Given the description of an element on the screen output the (x, y) to click on. 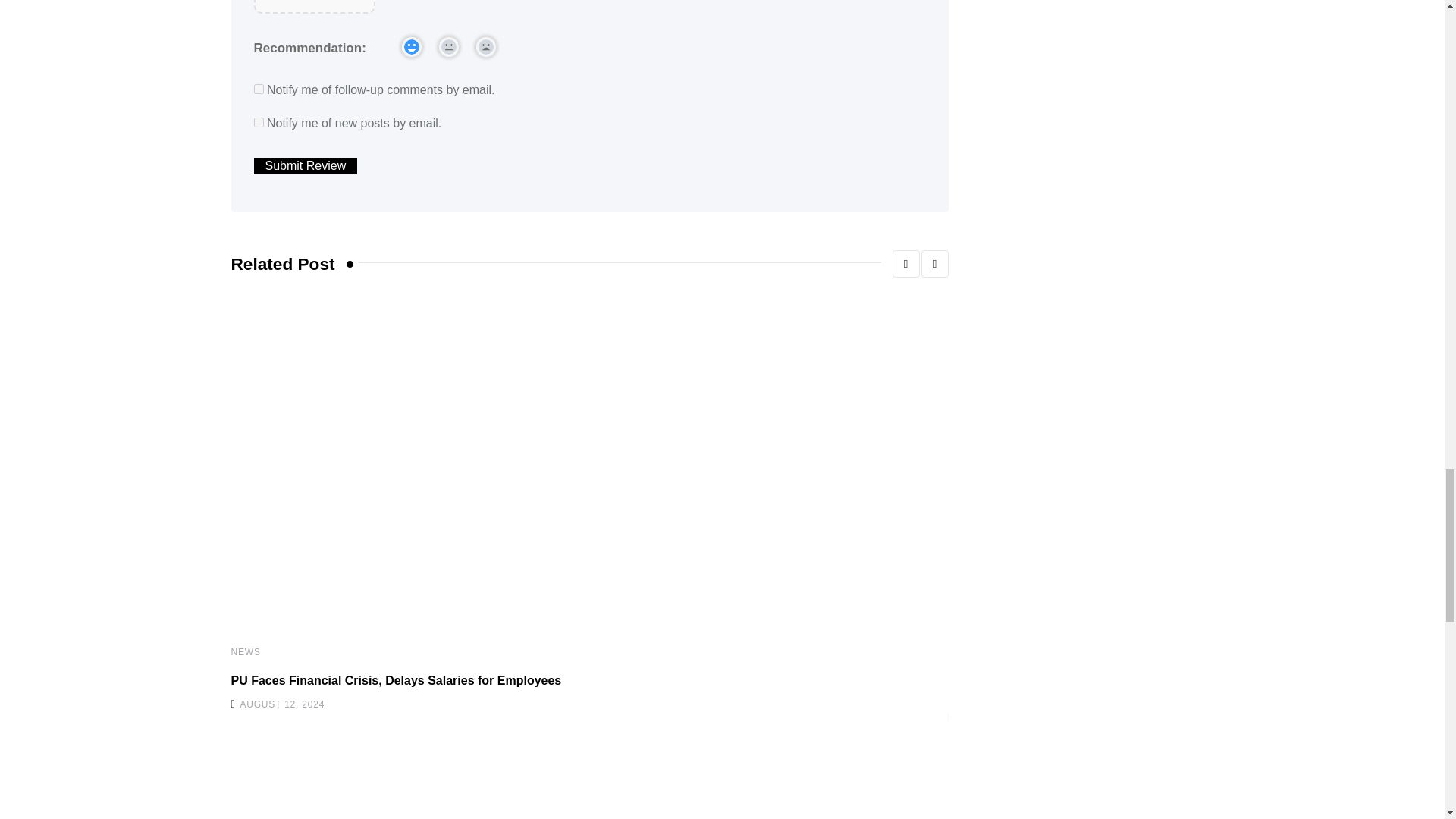
Submit Review (304, 166)
subscribe (258, 89)
PU Faces Financial Crisis, Delays Salaries for Employees 2 (437, 462)
subscribe (258, 122)
